Given the description of an element on the screen output the (x, y) to click on. 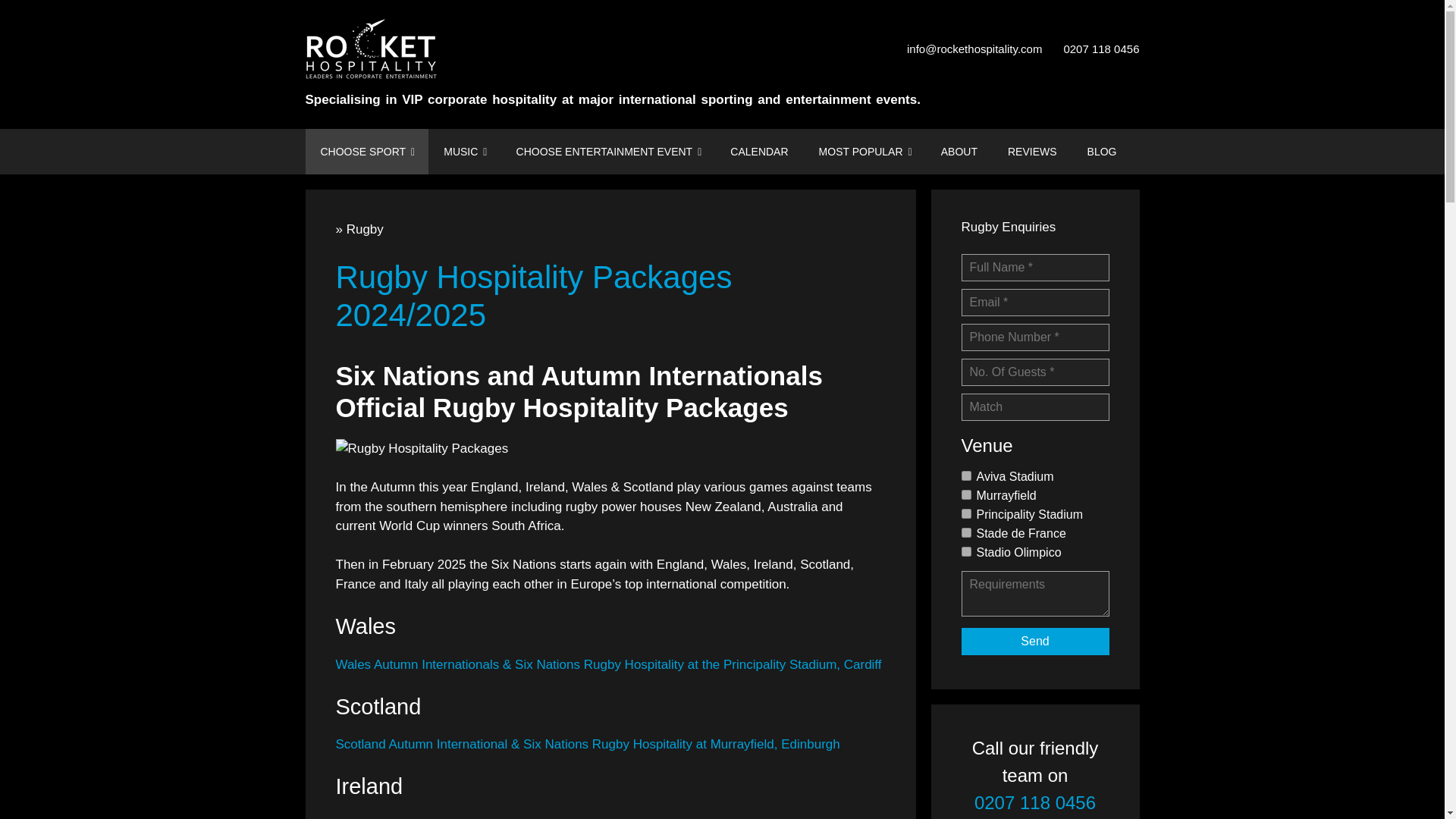
principalitystadium (965, 513)
0207 118 0456 (1100, 48)
stadioolimpico (965, 551)
Six Nations Millennium Stadium hospitality (607, 664)
CHOOSE SPORT (366, 151)
Murrayfield Hospitality Packages 2015 (587, 744)
murrayfield (965, 494)
stadedefrance (965, 532)
avivastadium (965, 475)
Send (1034, 641)
